Given the description of an element on the screen output the (x, y) to click on. 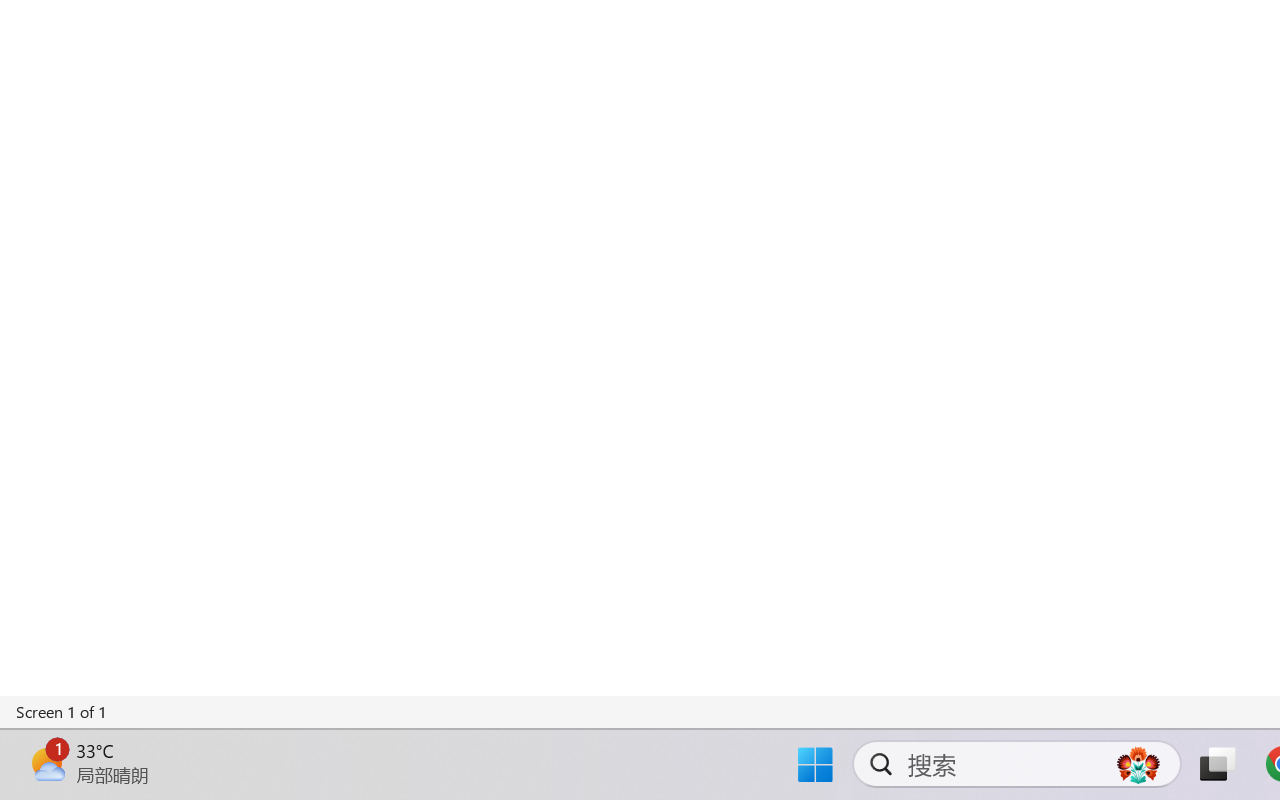
Page Number Screen 1 of 1  (62, 712)
